Given the description of an element on the screen output the (x, y) to click on. 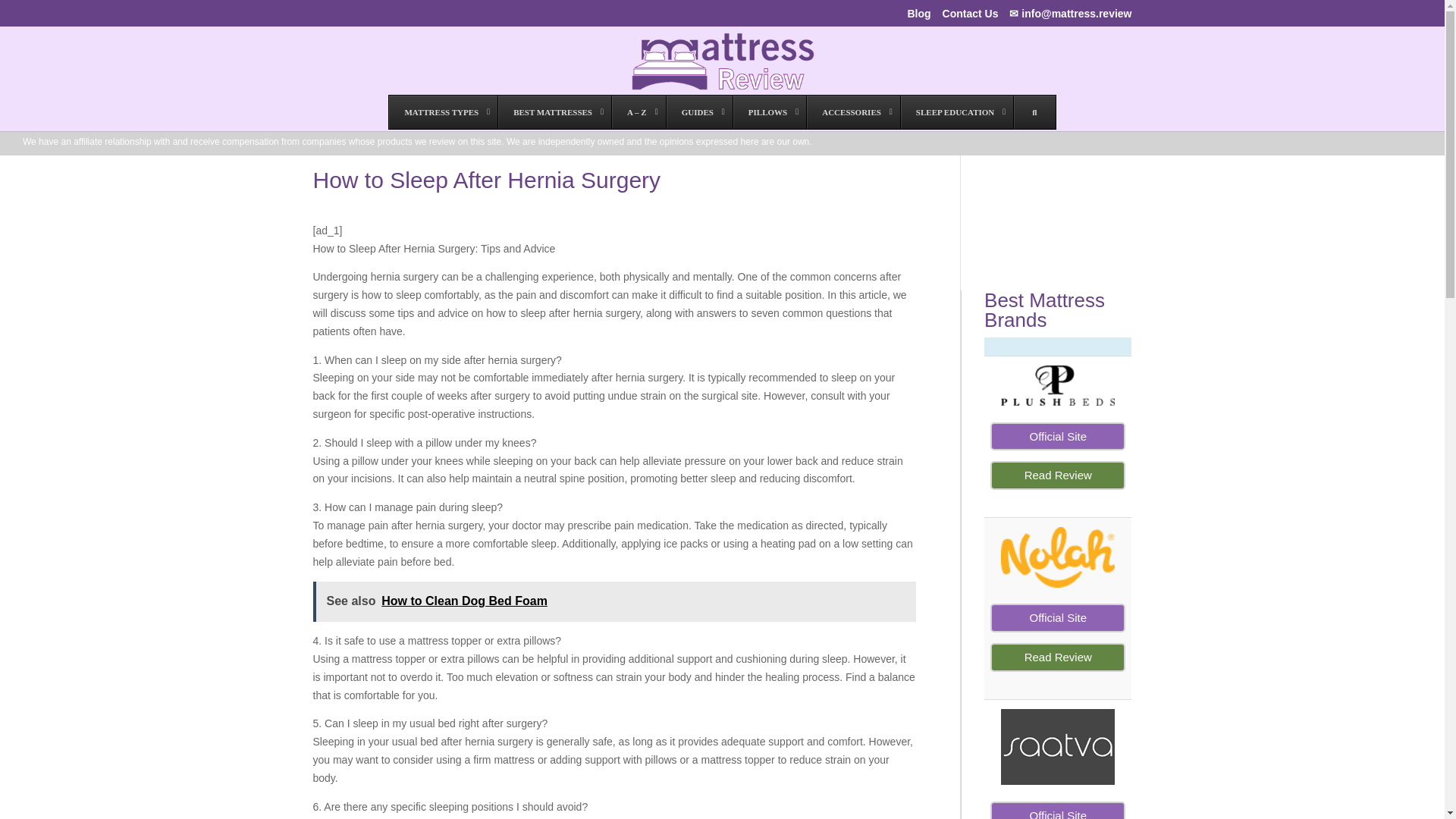
Blog (918, 16)
MATTRESS TYPES (442, 111)
Contact Us (970, 16)
